Given the description of an element on the screen output the (x, y) to click on. 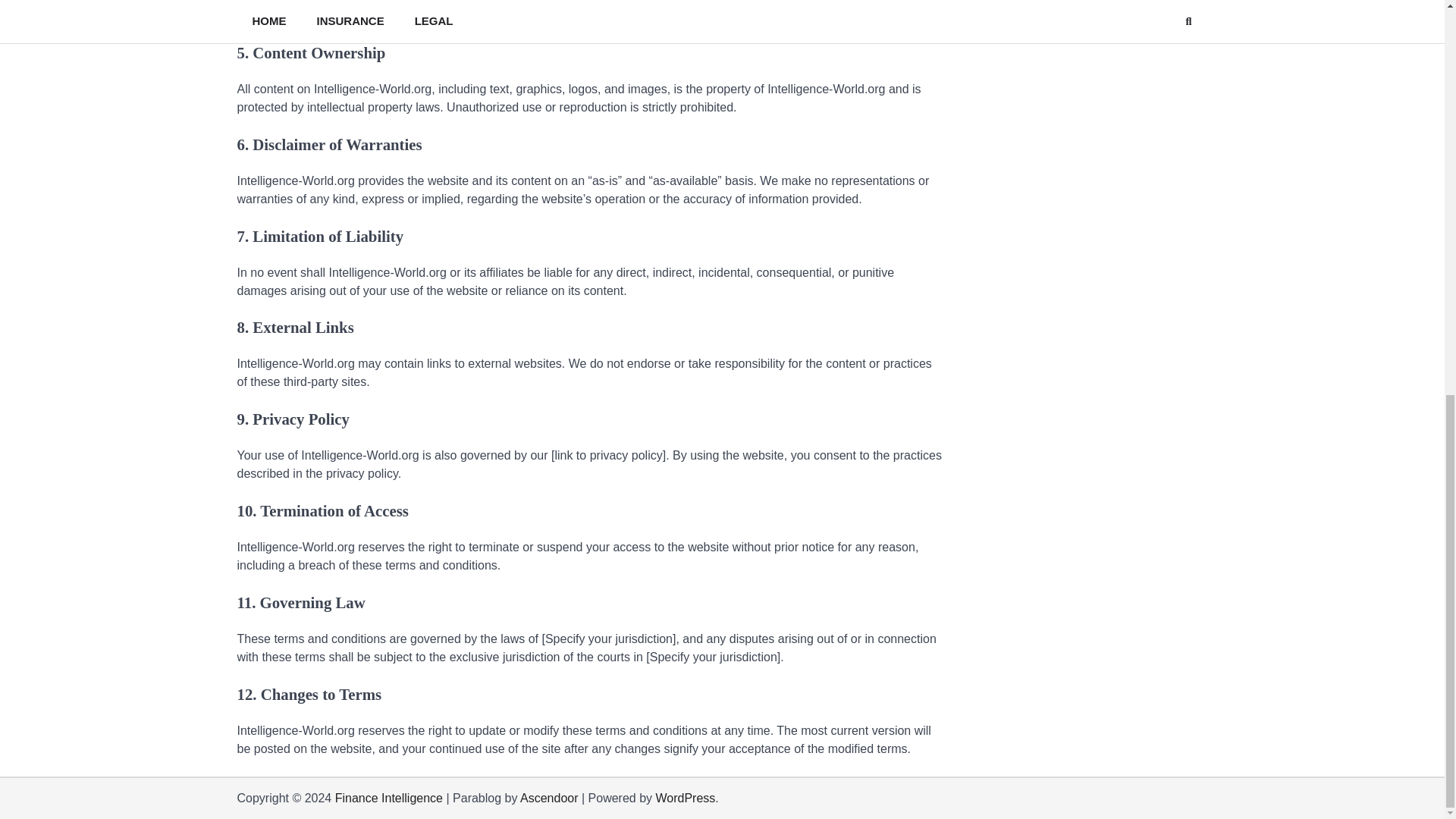
WordPress (684, 797)
Ascendoor (548, 797)
Contact Us (1199, 798)
Home (1131, 798)
About Me (1154, 798)
Privacy Policy (1177, 798)
Finance Intelligence (388, 797)
